Given the description of an element on the screen output the (x, y) to click on. 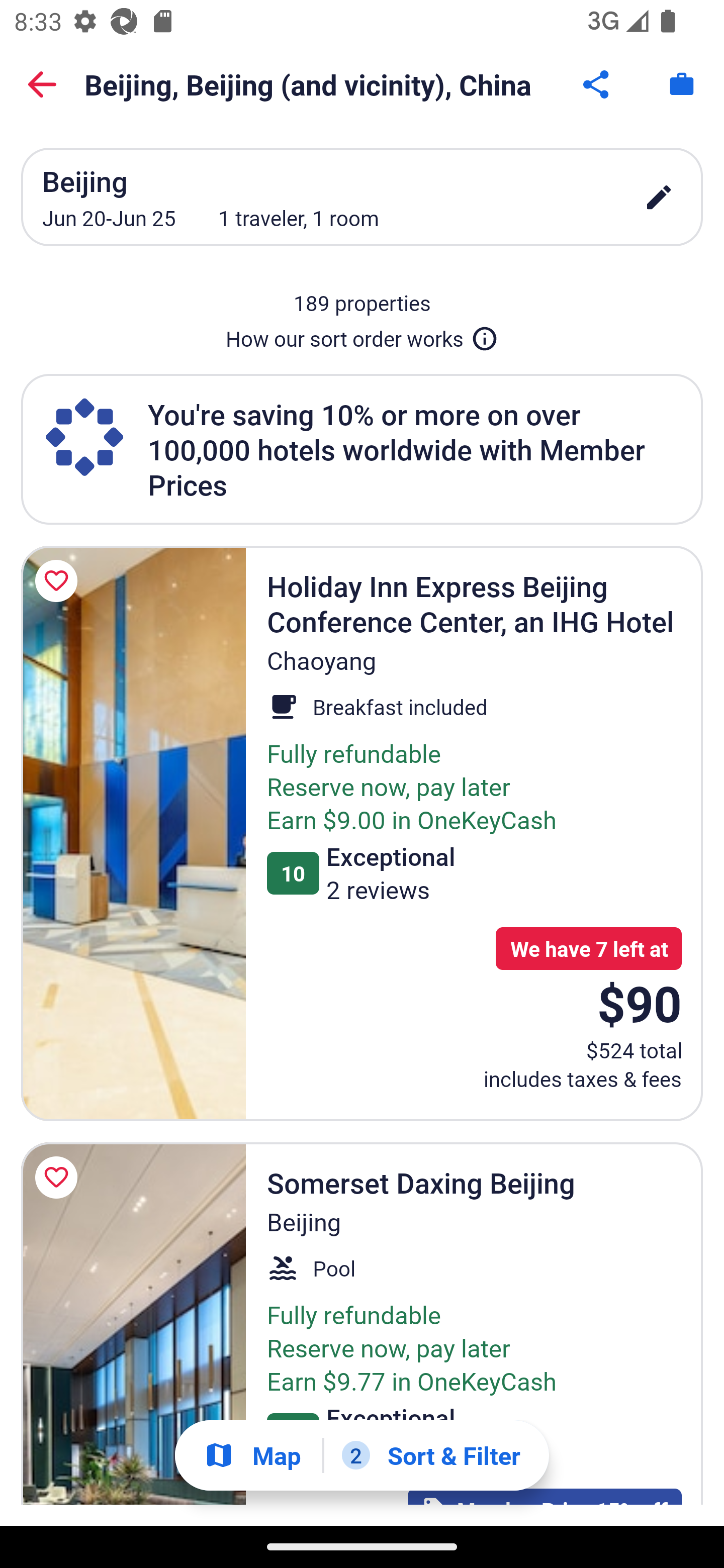
Back (42, 84)
Share Button (597, 84)
Trips. Button (681, 84)
Beijing Jun 20-Jun 25 1 traveler, 1 room edit (361, 196)
How our sort order works (361, 334)
Save Somerset Daxing Beijing to a trip (59, 1177)
Somerset Daxing Beijing (133, 1324)
2 Sort & Filter 2 Filters applied. Filters Button (430, 1455)
Show map Map Show map Button (252, 1455)
